Given the description of an element on the screen output the (x, y) to click on. 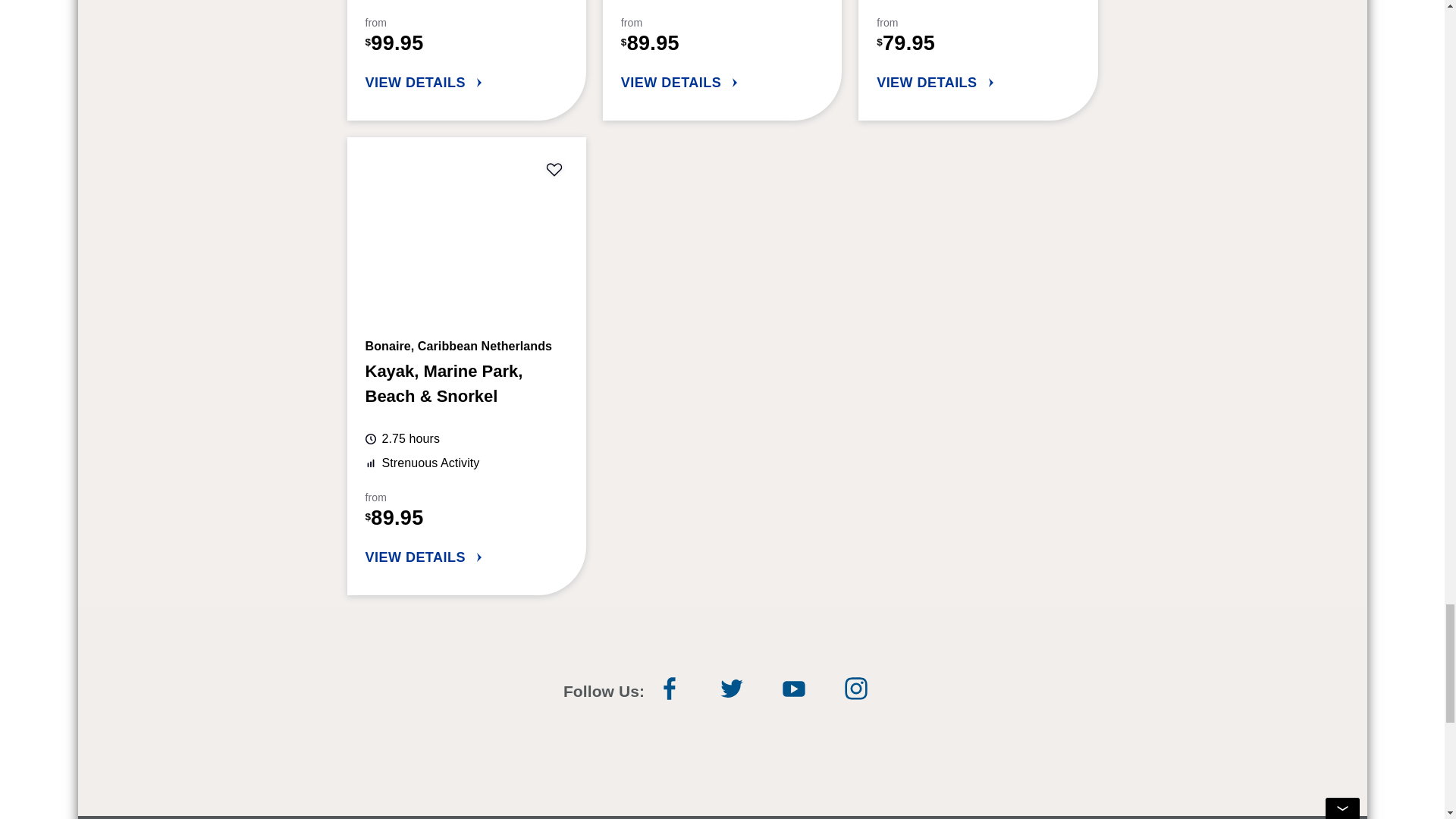
VIEW DETAILS (466, 83)
VIEW DETAILS (722, 83)
